Given the description of an element on the screen output the (x, y) to click on. 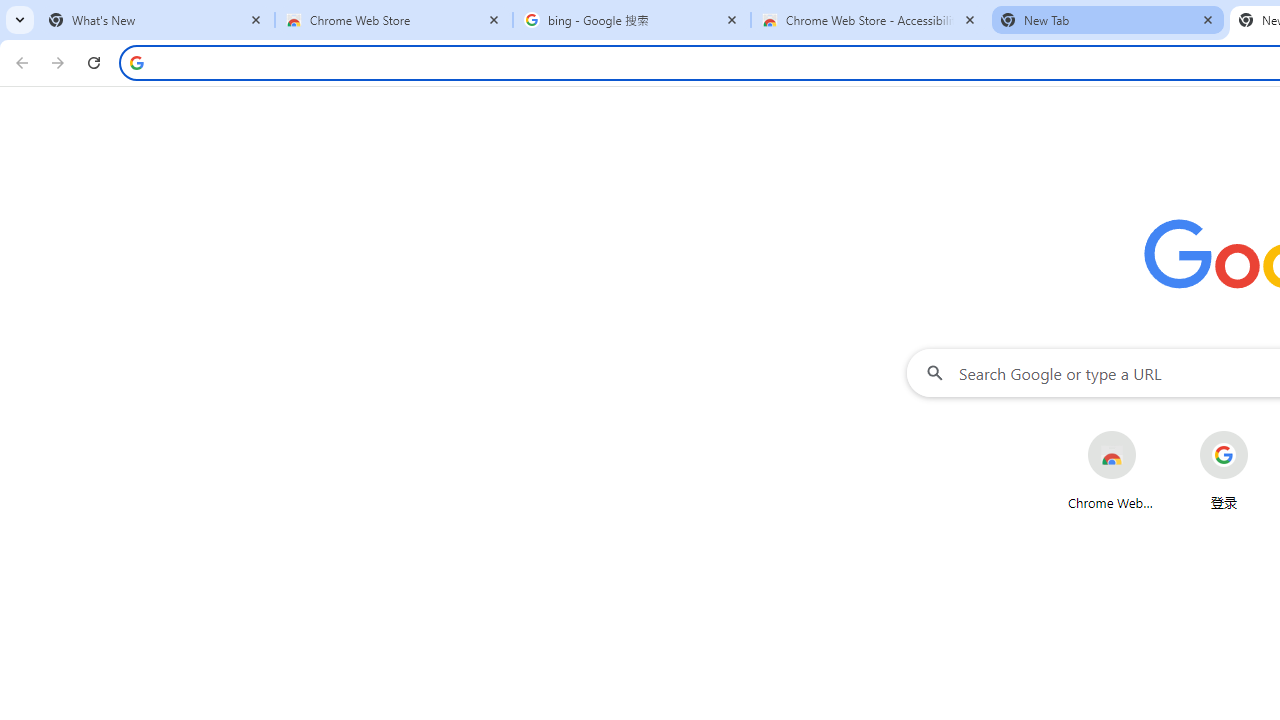
Chrome Web Store (1111, 470)
